Given the description of an element on the screen output the (x, y) to click on. 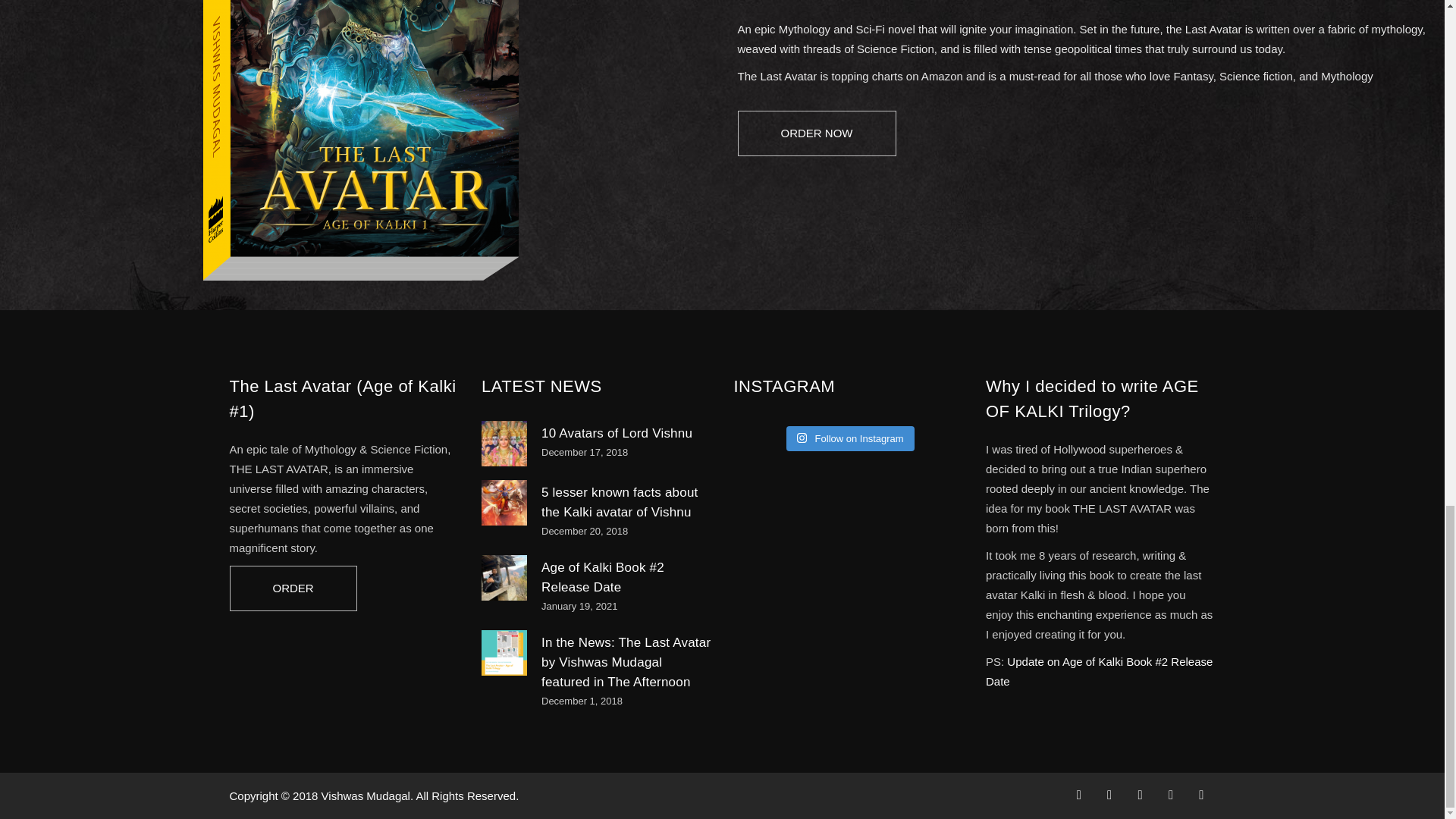
The Last Avatar - Age of Kalki-Book (360, 140)
